Given the description of an element on the screen output the (x, y) to click on. 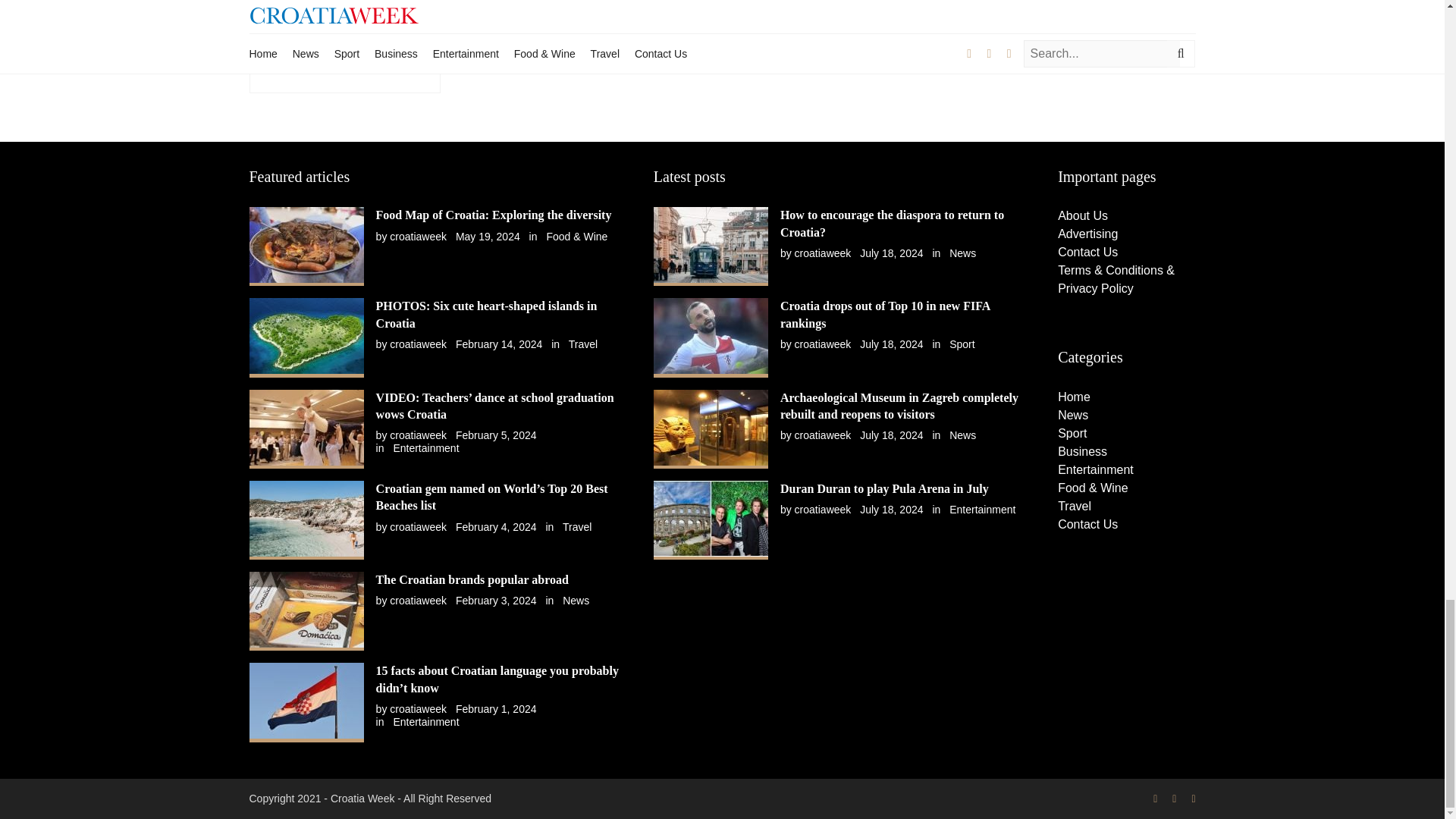
Read more... (287, 14)
croatiaweek (418, 344)
croatiaweek (418, 236)
PHOTOS: Six cute heart-shaped islands in Croatia (485, 314)
croatiaweek (418, 435)
Travel (582, 344)
Food Map of Croatia: Exploring the diversity (493, 214)
